Given the description of an element on the screen output the (x, y) to click on. 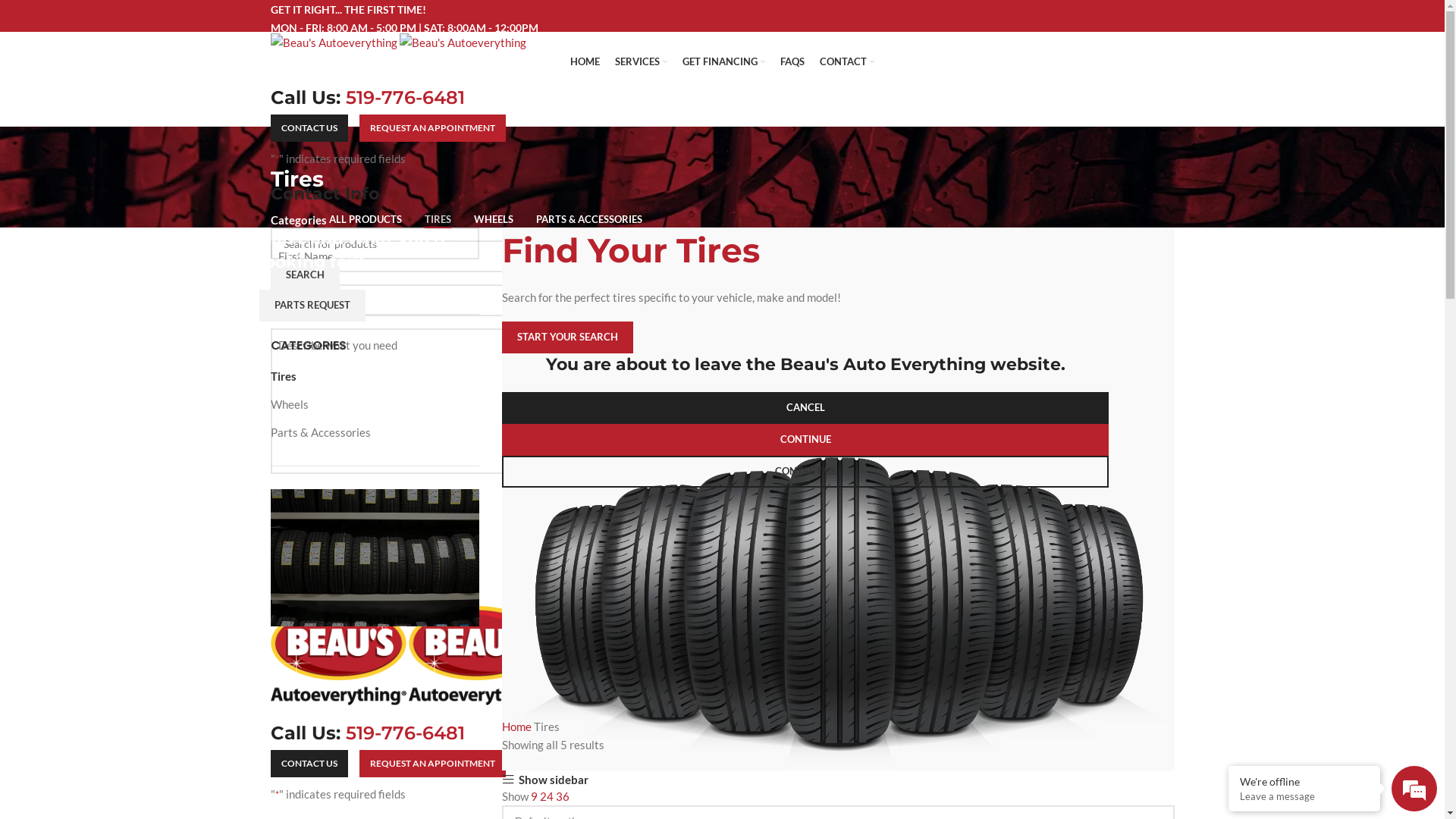
GET FINANCING Element type: text (723, 62)
PARTS & ACCESSORIES Element type: text (588, 219)
TIRES Element type: text (437, 219)
CONTACT Element type: text (846, 62)
9 Element type: text (534, 796)
ALL PRODUCTS Element type: text (365, 219)
tires Element type: hover (838, 613)
START YOUR SEARCH Element type: text (567, 337)
SEARCH Element type: text (303, 275)
CANCEL Element type: text (805, 407)
REQUEST AN APPOINTMENT Element type: text (432, 127)
Menu Element type: text (283, 596)
36 Element type: text (562, 796)
Tires Element type: text (364, 376)
WHEELS Element type: text (492, 219)
FAQS Element type: text (792, 62)
Categories Element type: text (297, 219)
Submit Element type: text (302, 538)
Home Element type: text (517, 726)
24 Element type: text (547, 796)
SERVICES Element type: text (641, 62)
CONTINUE Element type: text (805, 439)
CONTACT US Element type: text (805, 471)
Call Us: 519-776-6481 Element type: text (366, 732)
Wheels Element type: text (364, 404)
REQUEST AN APPOINTMENT Element type: text (432, 763)
Search for products Element type: hover (374, 243)
HOME Element type: text (584, 62)
CONTACT US Element type: text (308, 127)
Can't find what you're looking for?
PARTS REQUEST Element type: text (374, 557)
Show sidebar Element type: text (545, 779)
Call Us: 519-776-6481 Element type: text (366, 97)
CONTACT US Element type: text (308, 763)
PARTS REQUEST Element type: text (312, 305)
Parts & Accessories Element type: text (364, 432)
